Given the description of an element on the screen output the (x, y) to click on. 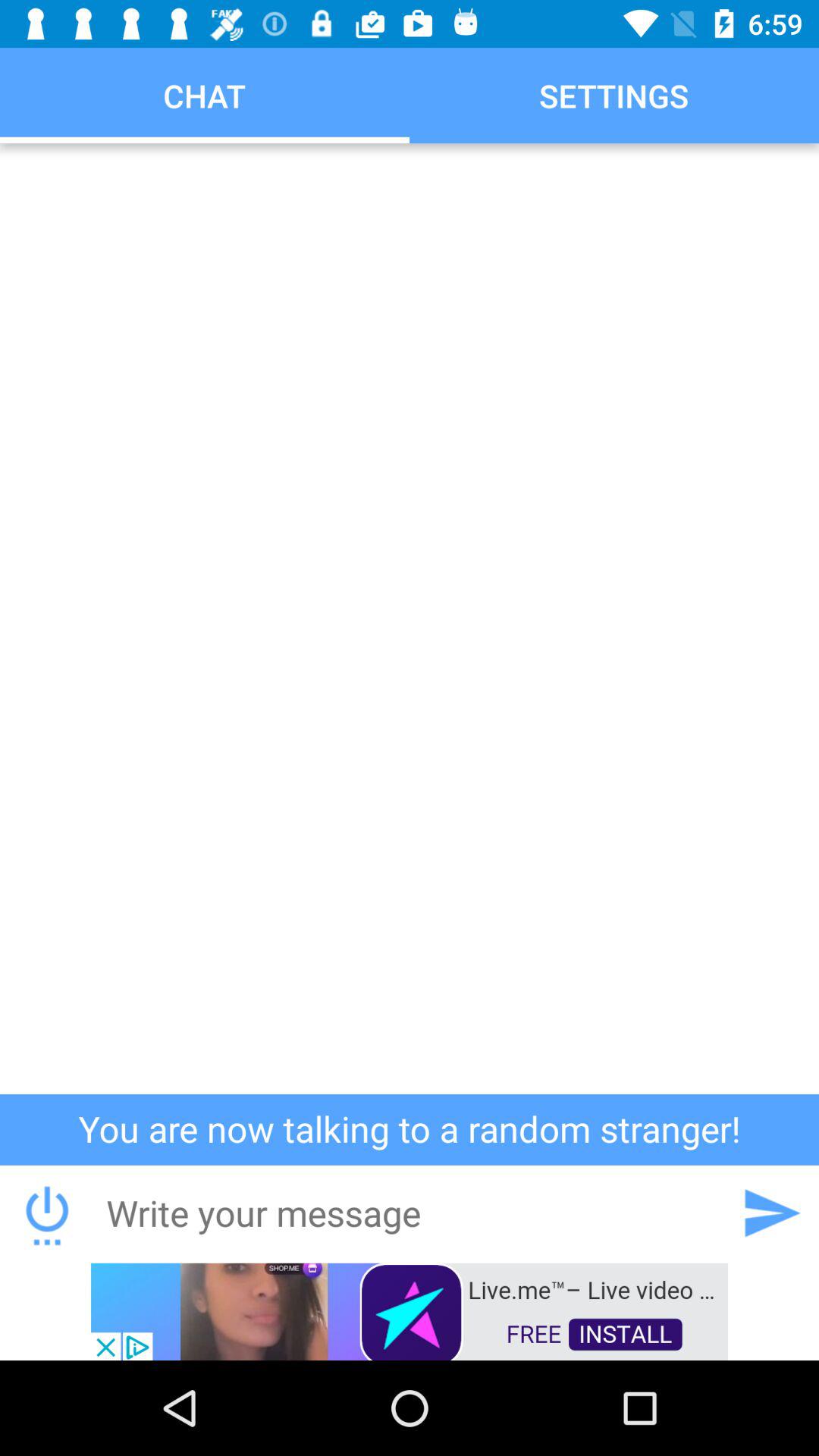
description (409, 618)
